Given the description of an element on the screen output the (x, y) to click on. 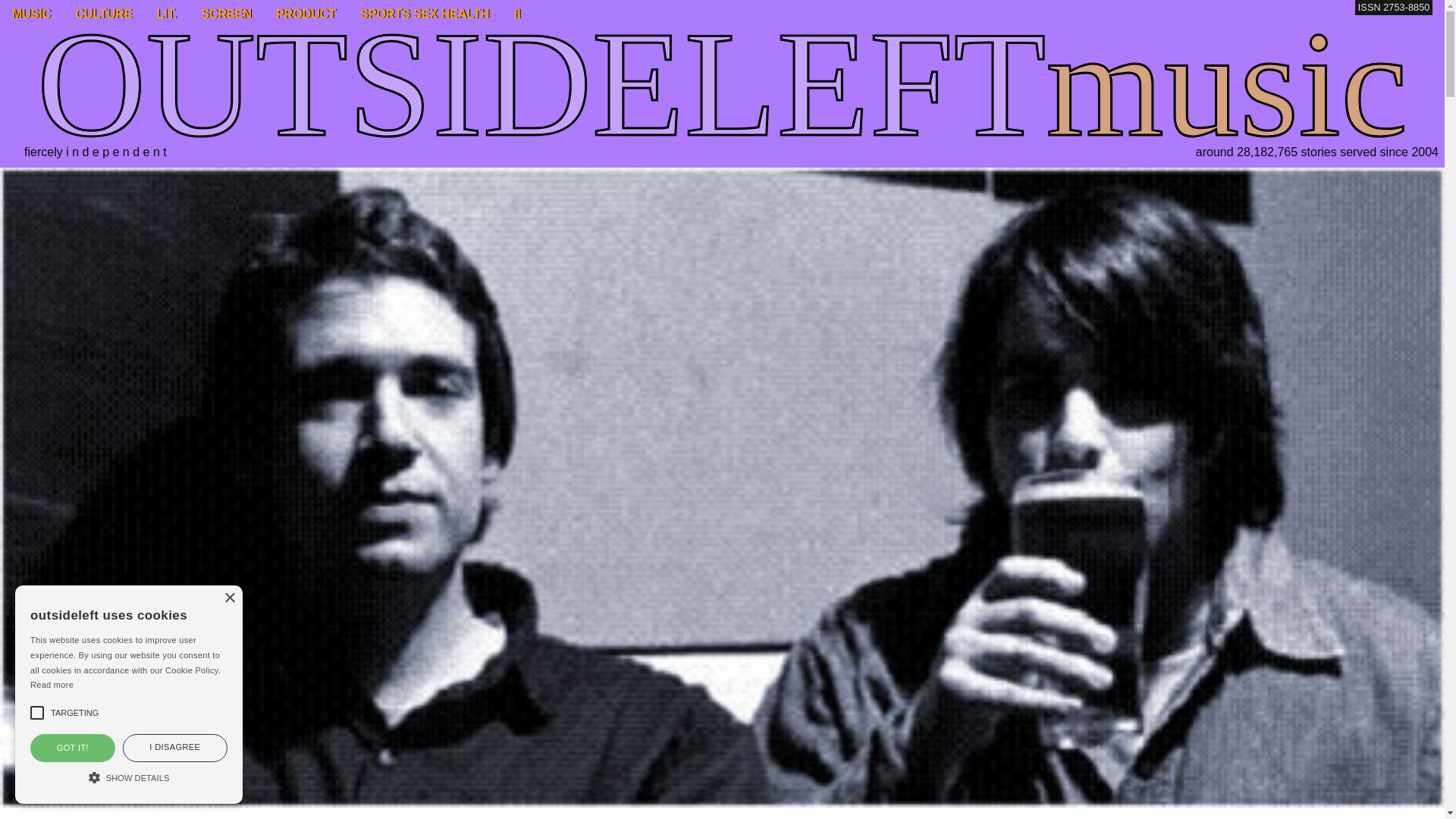
MUSIC (32, 14)
CULTURE (104, 14)
PRODUCT (305, 14)
LIT. (166, 14)
SPORTS SEX HEALTH (423, 14)
SCREEN (226, 14)
